Given the description of an element on the screen output the (x, y) to click on. 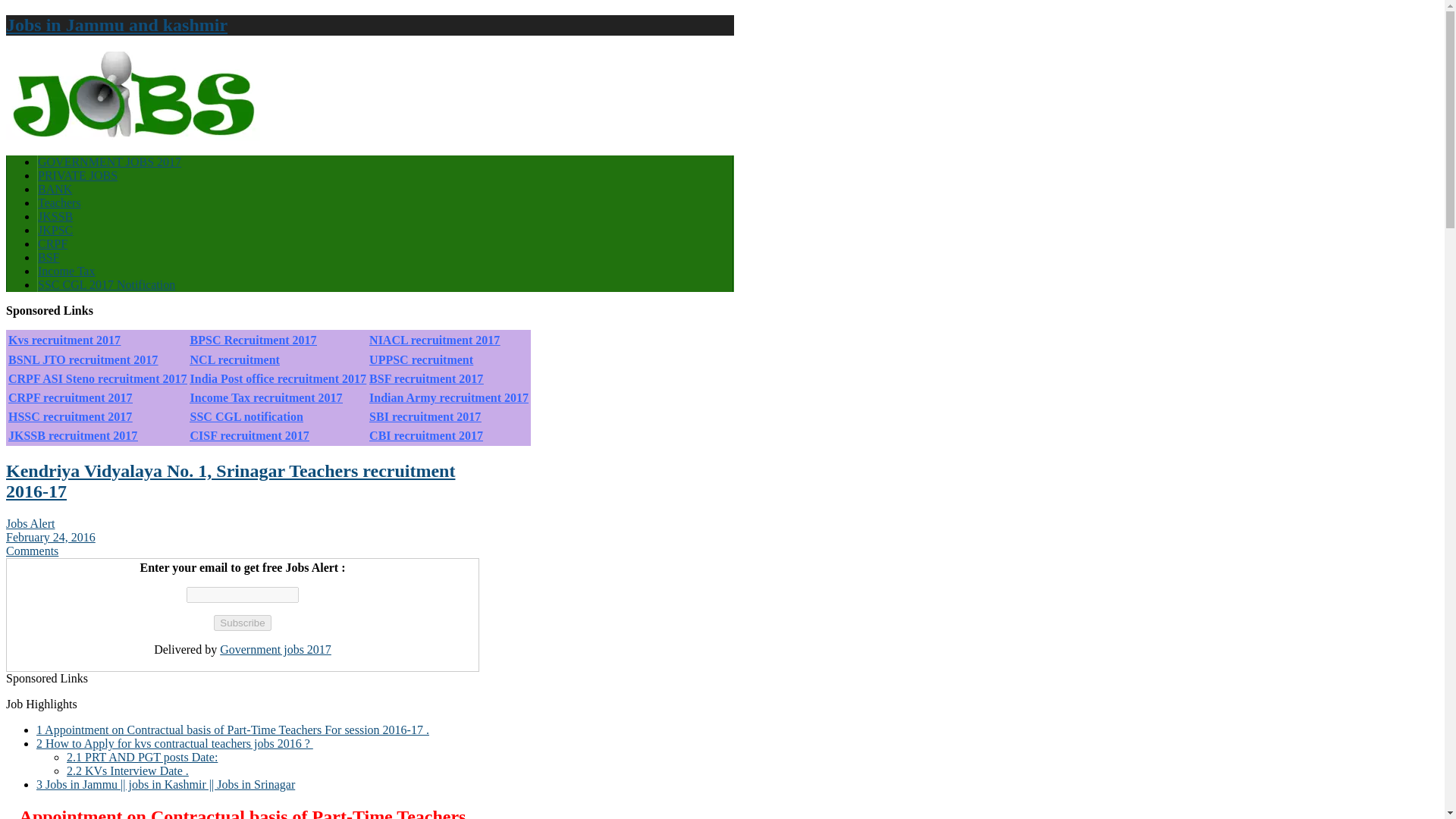
CRPF ASI Steno recruitment 2017 (97, 378)
NCL recruitment (234, 359)
BANK (54, 188)
2 How to Apply for kvs contractual teachers jobs 2016 ?  (174, 743)
India Post office recruitment 2017 (278, 378)
UPPSC recruitment (421, 359)
BSF recruitment 2017 (426, 378)
CRPF recruitment 2017 (70, 397)
BSF (48, 256)
Income Tax recruitment 2017 (266, 397)
Income Tax (65, 270)
Jobs Alert (30, 522)
Jobs in Jammu and kashmir (116, 25)
JKSSB (54, 215)
